Given the description of an element on the screen output the (x, y) to click on. 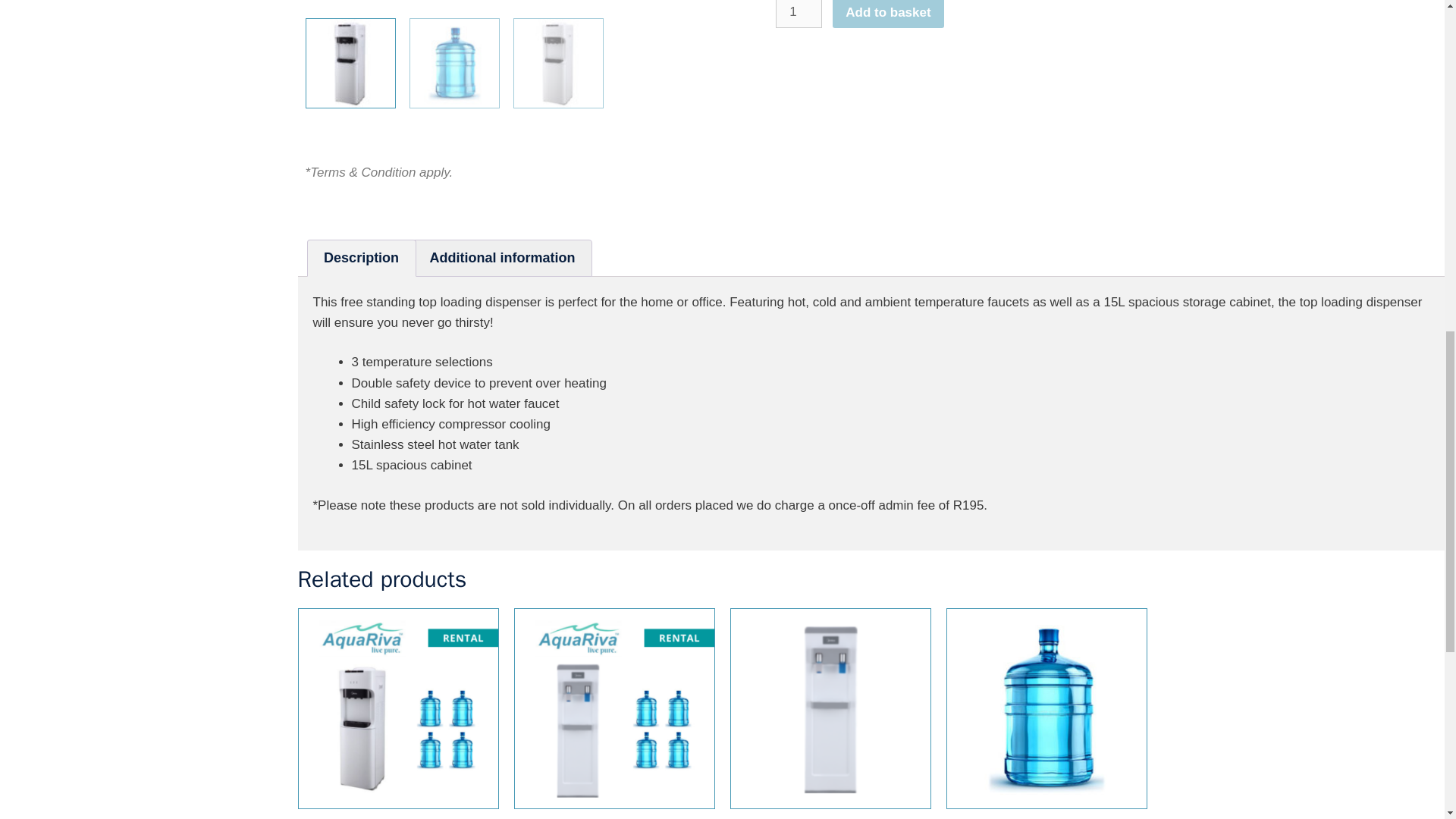
Description (360, 258)
1 (829, 713)
Add to basket (798, 13)
Additional information (613, 713)
